Given the description of an element on the screen output the (x, y) to click on. 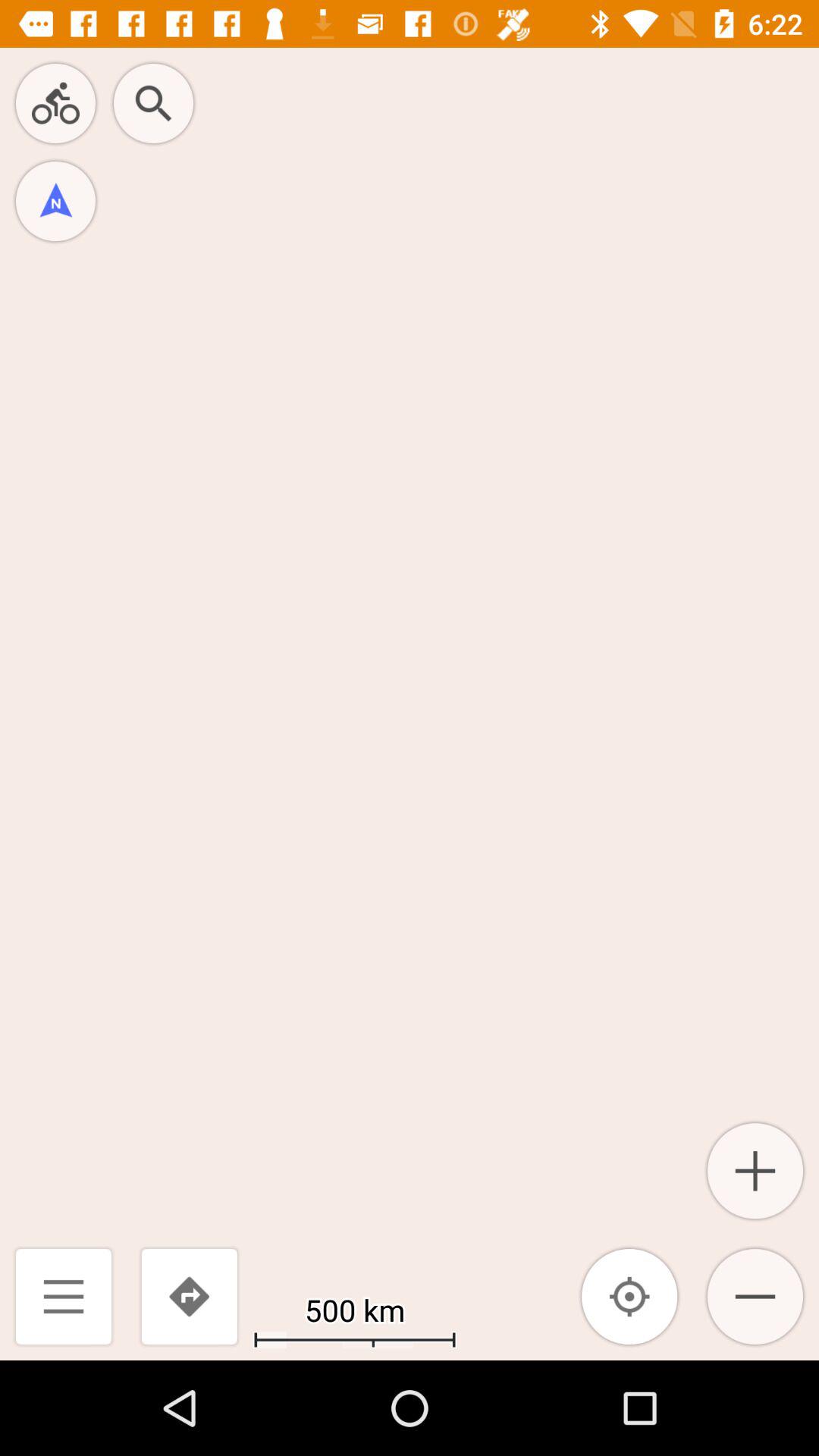
choose the icon next to the 500 km item (629, 1296)
